Given the description of an element on the screen output the (x, y) to click on. 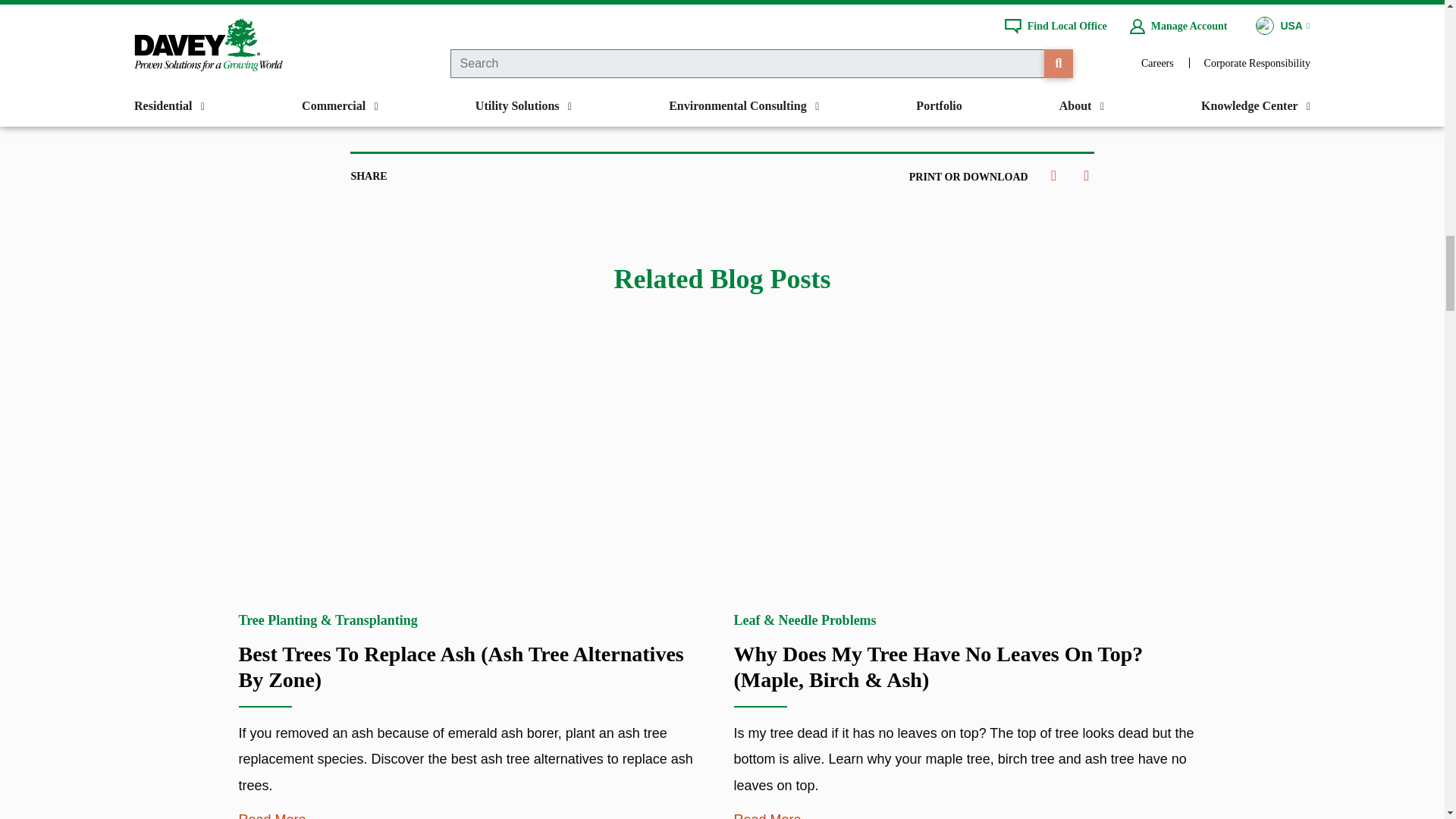
Tree Inventory Management (697, 16)
